Given the description of an element on the screen output the (x, y) to click on. 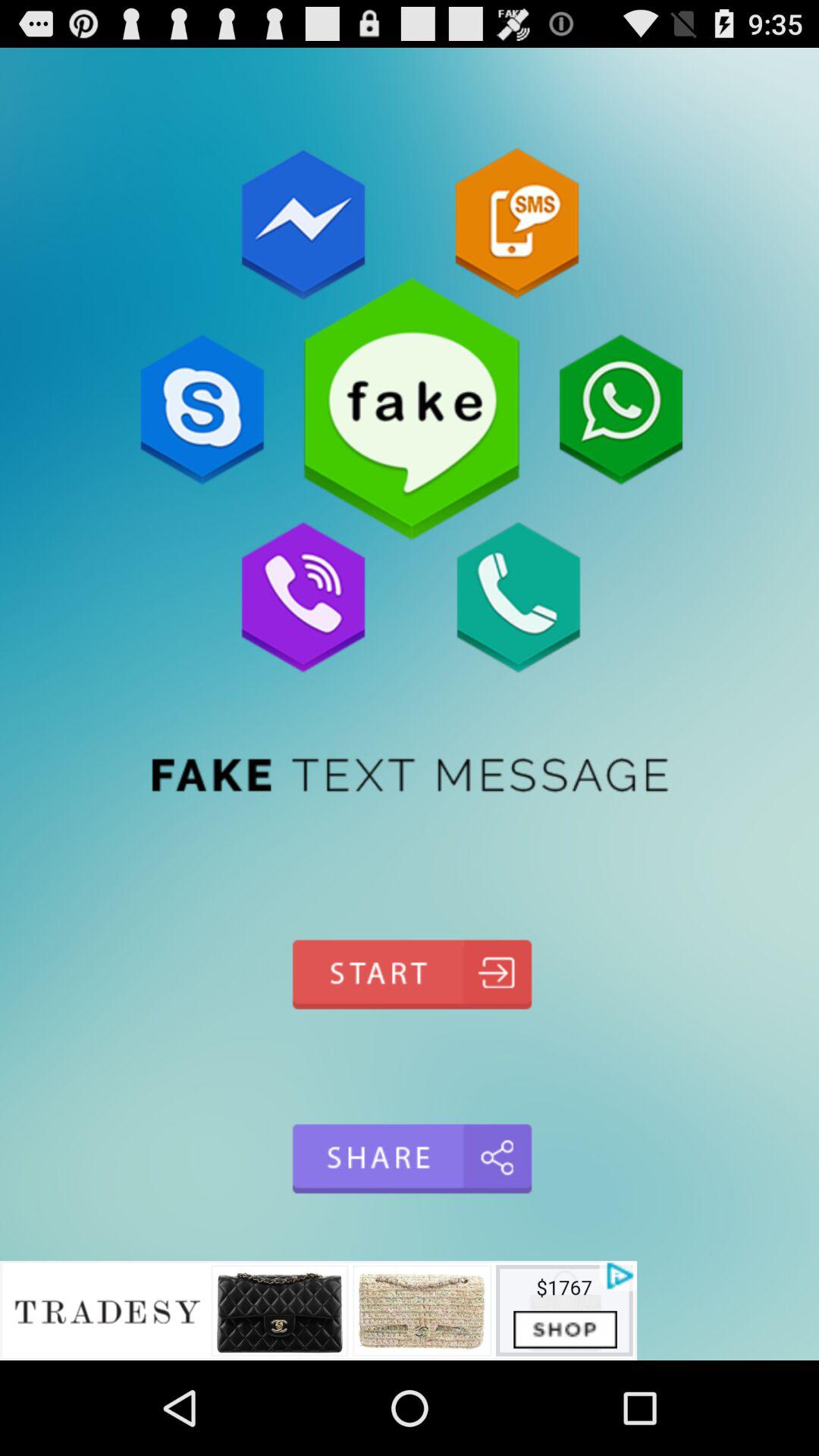
start go back (409, 974)
